Given the description of an element on the screen output the (x, y) to click on. 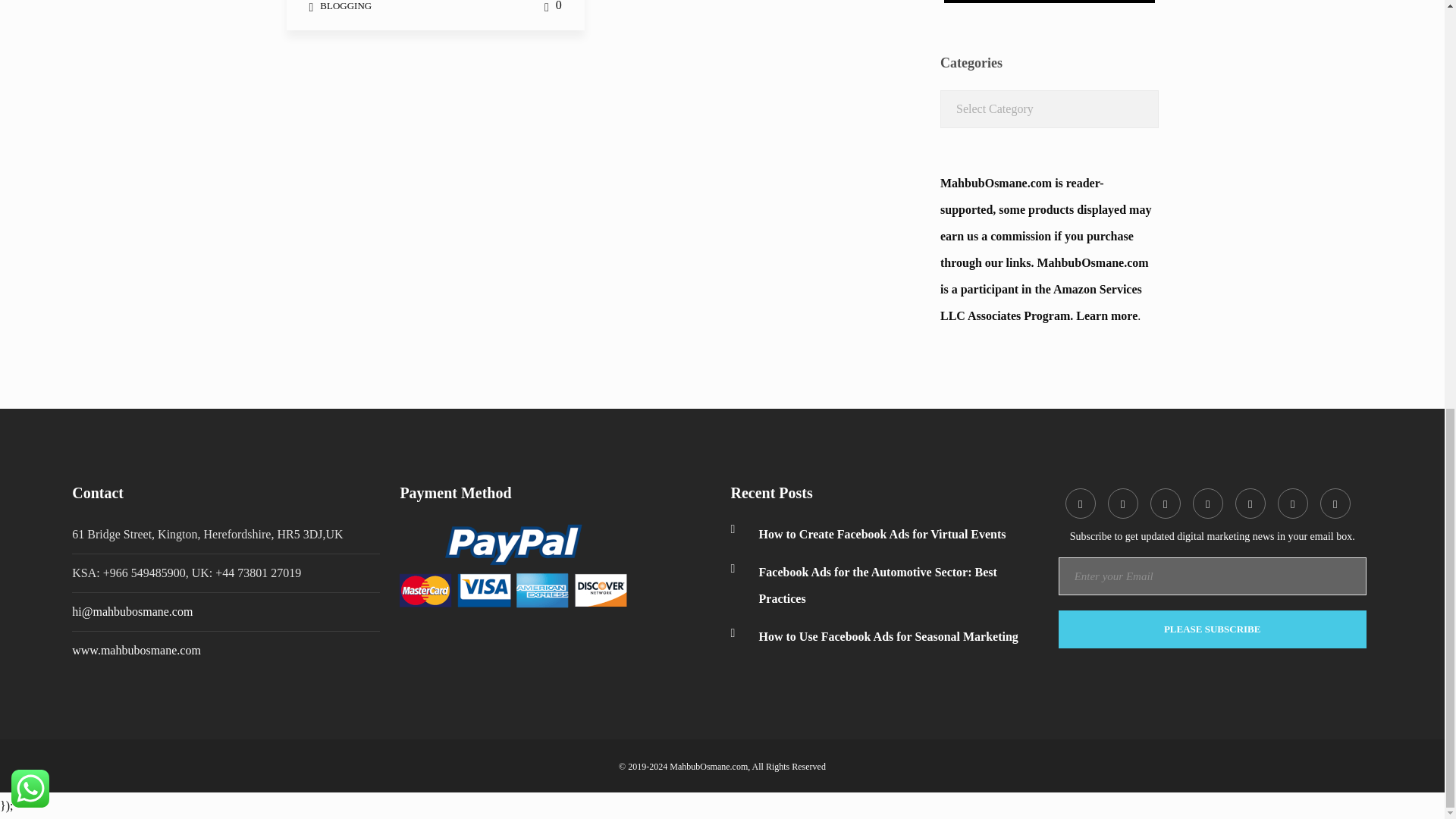
PLEASE SUBSCRIBE (1212, 629)
